Given the description of an element on the screen output the (x, y) to click on. 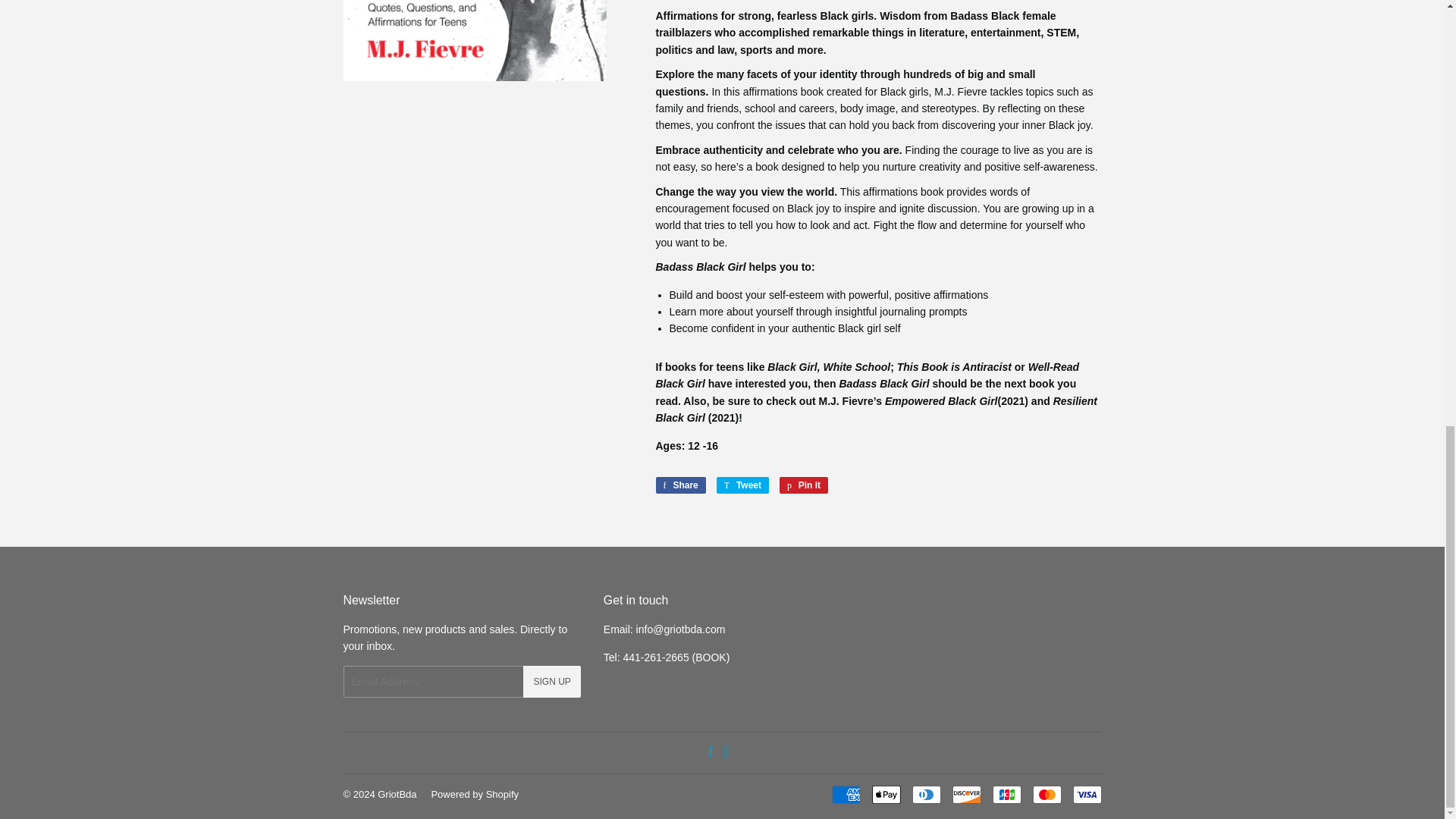
GriotBda on Facebook (710, 752)
Visa (1085, 794)
Apple Pay (886, 794)
GriotBda on Instagram (726, 752)
American Express (845, 794)
JCB (1005, 794)
Discover (966, 794)
Diners Club (925, 794)
Mastercard (1046, 794)
Share on Facebook (679, 484)
Tweet on Twitter (742, 484)
Pin on Pinterest (803, 484)
